Given the description of an element on the screen output the (x, y) to click on. 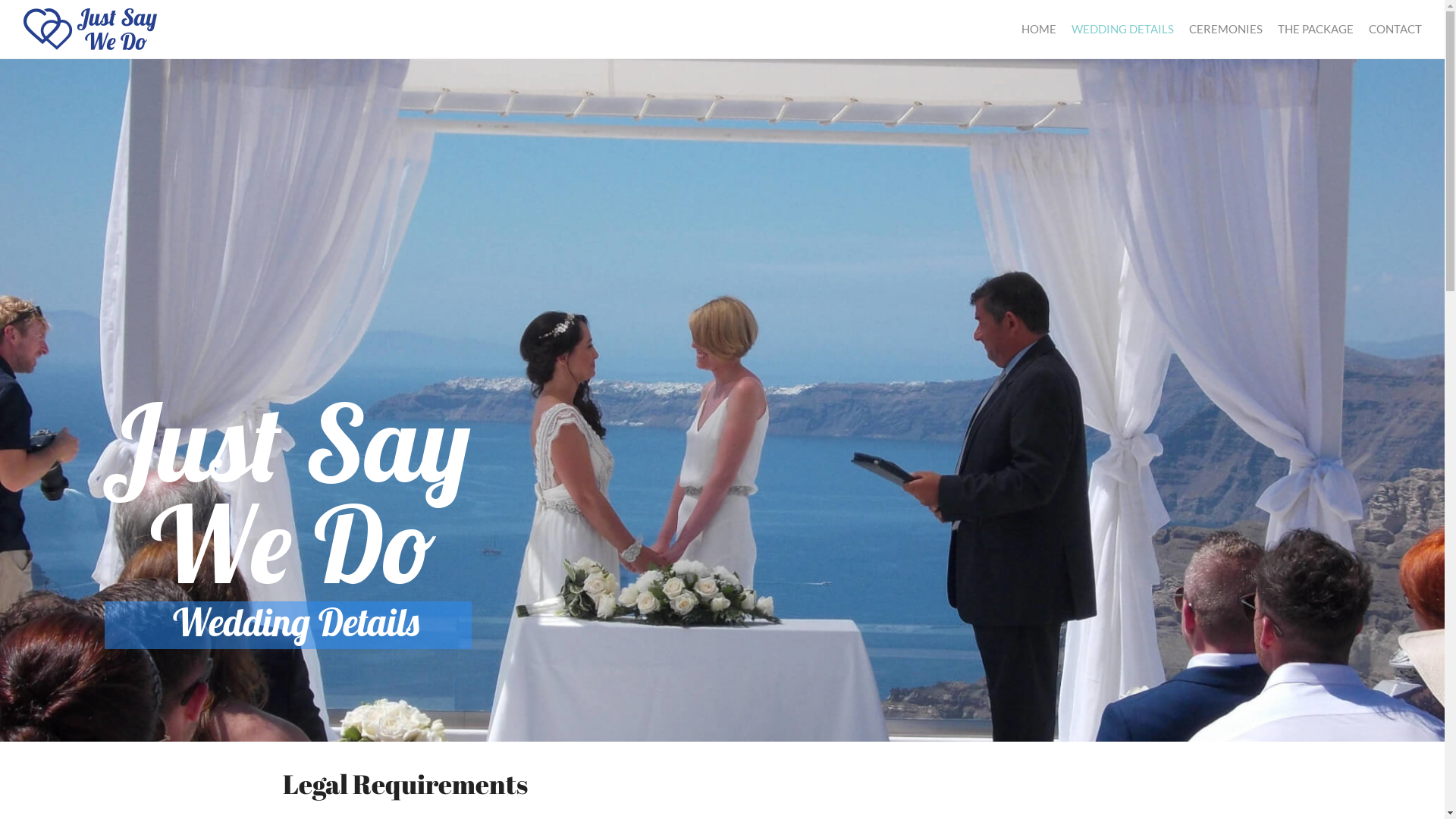
THE PACKAGE Element type: text (1315, 28)
WEDDING DETAILS Element type: text (1122, 28)
CONTACT Element type: text (1391, 28)
HOME Element type: text (1038, 28)
CEREMONIES Element type: text (1225, 28)
